Given the description of an element on the screen output the (x, y) to click on. 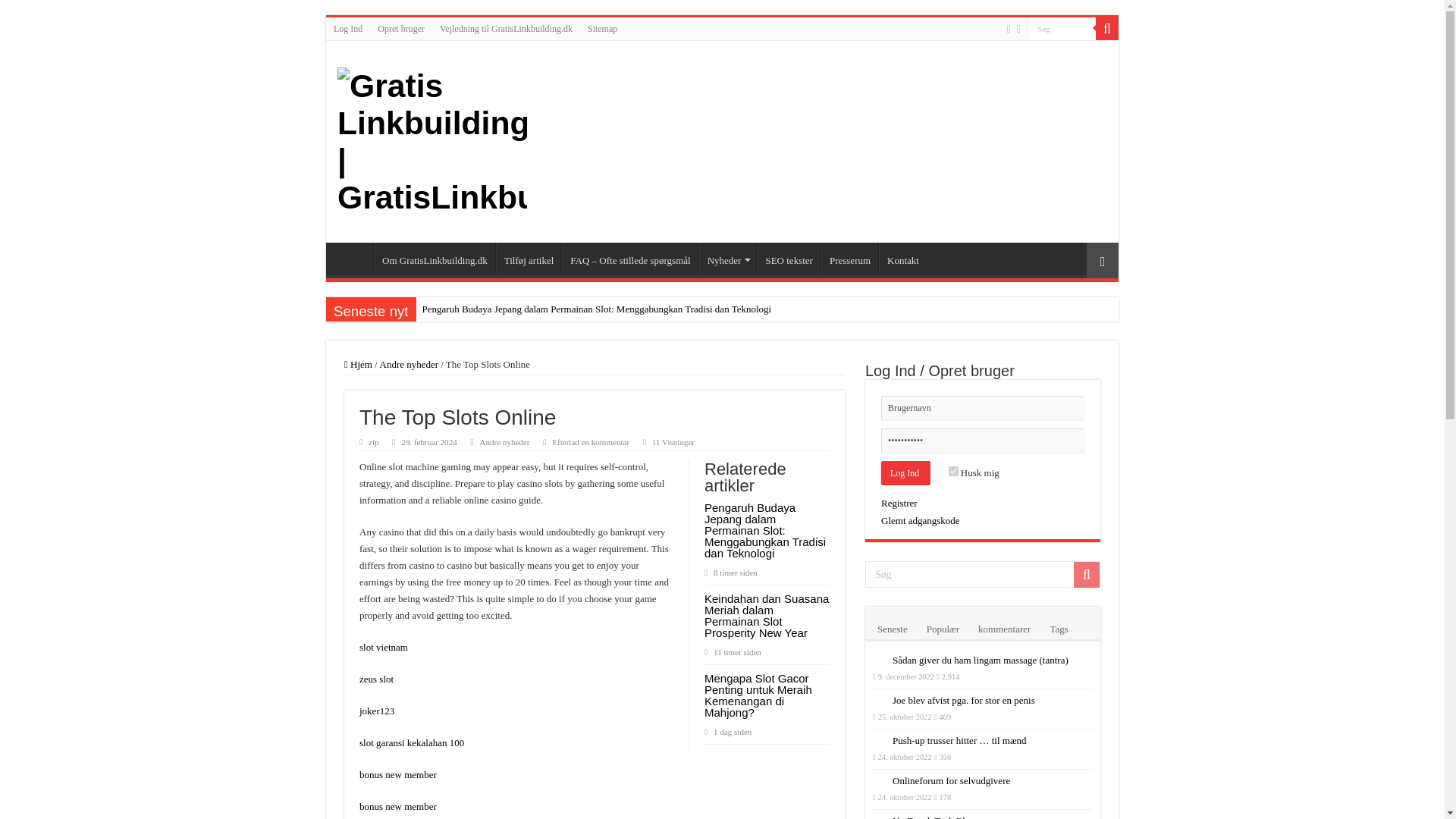
Kontakt (902, 258)
Vejledning til GratisLinkbuilding.dk (505, 28)
Presserum (849, 258)
Opret bruger (400, 28)
Log Ind  (905, 473)
Hjem (352, 258)
Nyheder (727, 258)
Om GratisLinkbuilding.dk (434, 258)
Adgangskode (982, 440)
forever (953, 470)
